Given the description of an element on the screen output the (x, y) to click on. 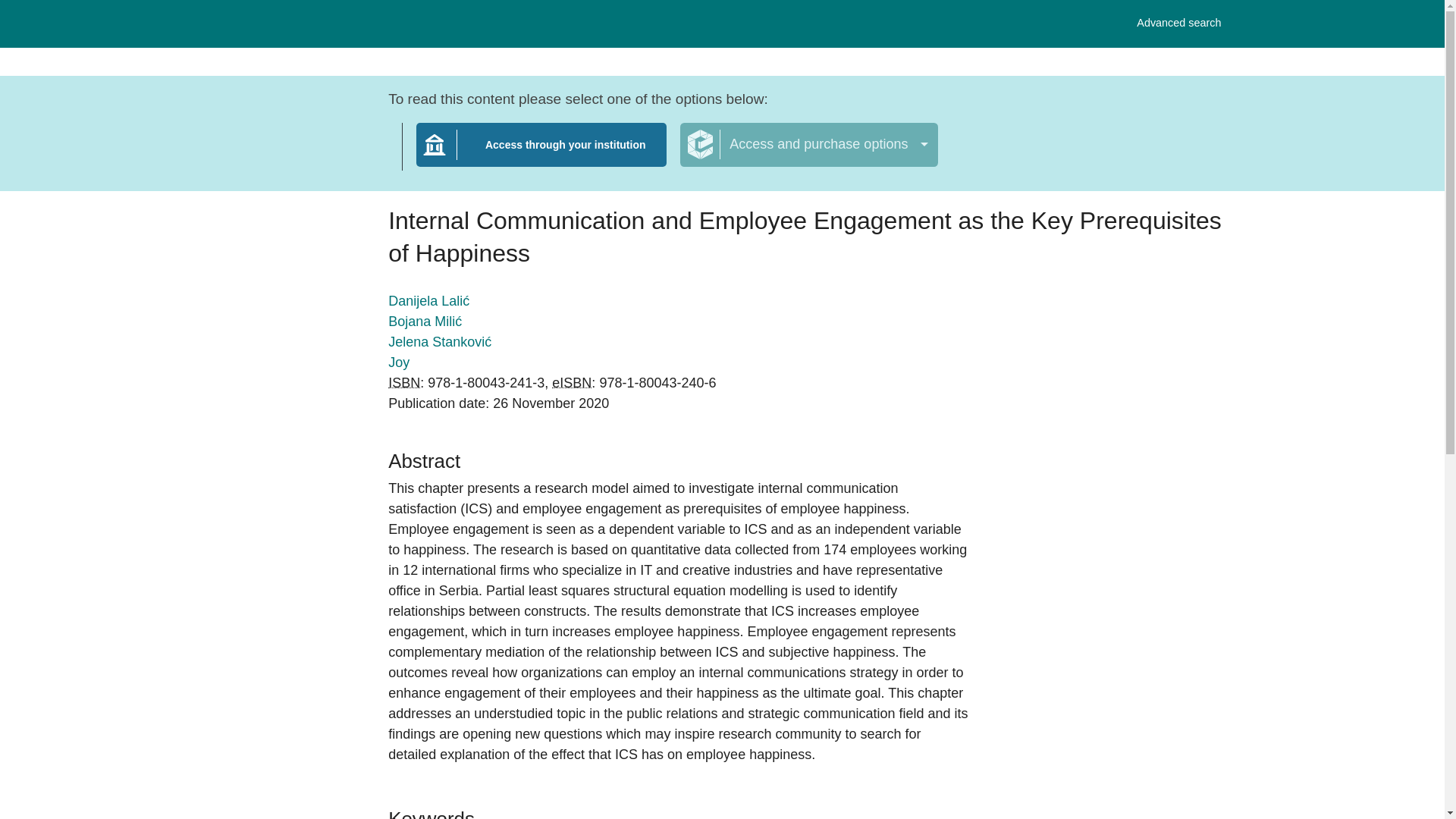
Access through your institution (541, 153)
Joy (398, 362)
International Standard Book Number. (1178, 23)
Access and purchase options (404, 382)
